Given the description of an element on the screen output the (x, y) to click on. 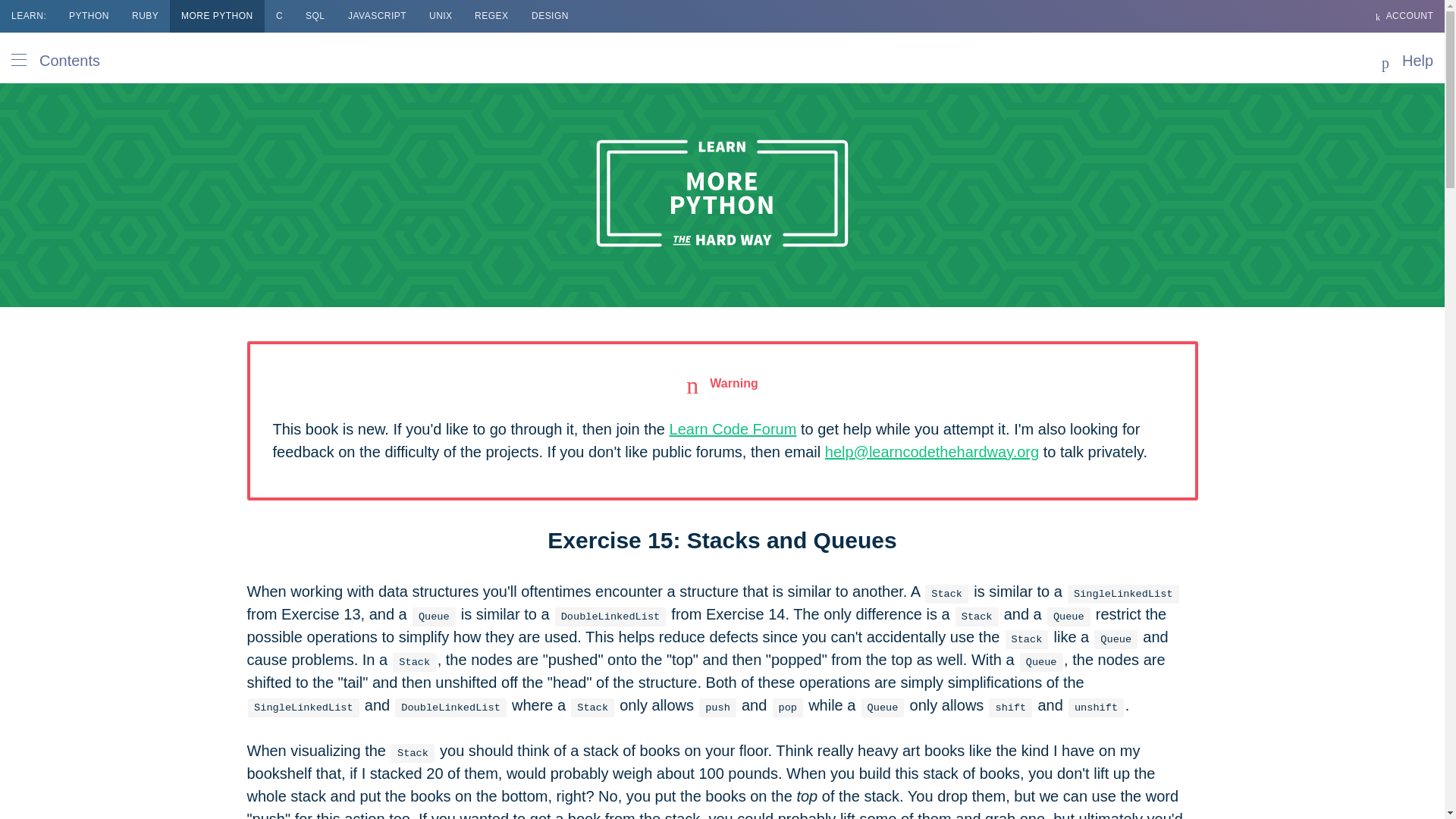
SQL (315, 16)
DESIGN (549, 16)
RUBY (145, 16)
Contents (60, 57)
C (279, 16)
MORE PYTHON (217, 16)
LEARN: (29, 16)
JAVASCRIPT (376, 16)
REGEX (491, 16)
UNIX (440, 16)
PYTHON (89, 16)
